Given the description of an element on the screen output the (x, y) to click on. 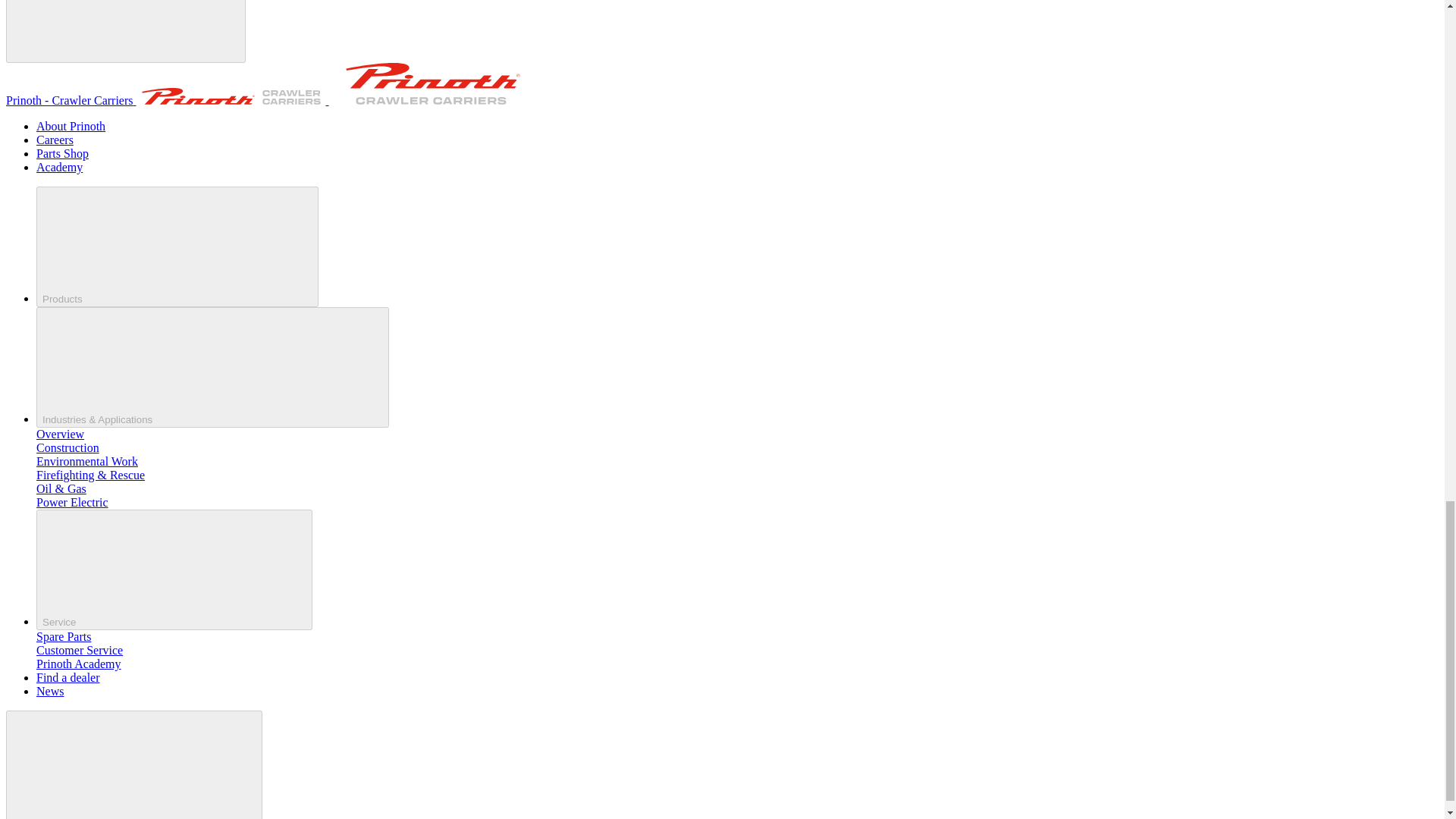
Environmental Work (87, 461)
Overview (60, 433)
Academy (59, 166)
Prinoth Academy (78, 663)
Parts Shop (62, 153)
Power Electric (71, 502)
Products (177, 246)
Service (174, 569)
Spare Parts (63, 635)
Construction (67, 447)
Customer Service (79, 649)
News (50, 690)
About Prinoth (70, 125)
Find a dealer (68, 676)
Careers (55, 139)
